Given the description of an element on the screen output the (x, y) to click on. 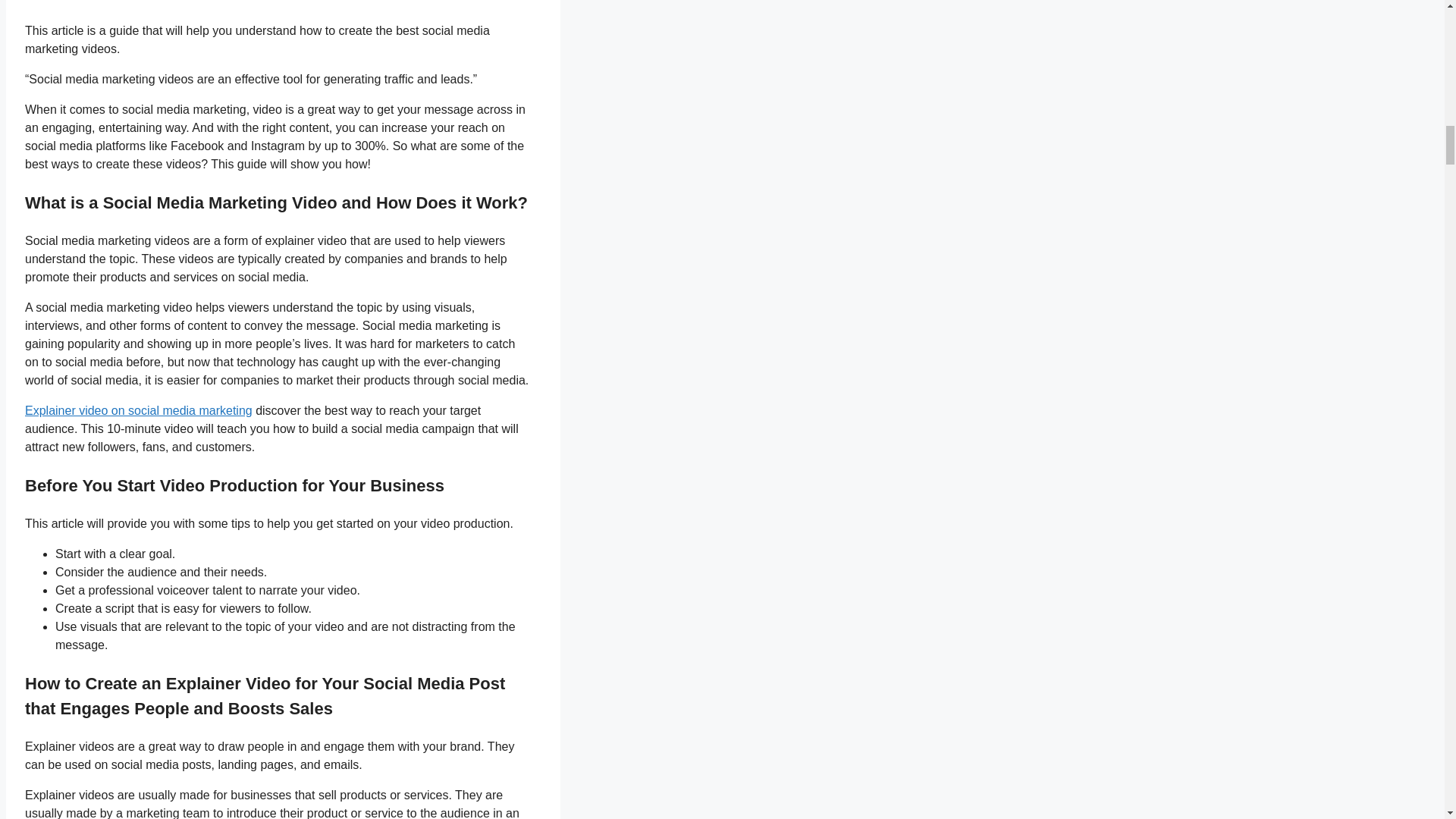
Explainer video on social media marketing (137, 410)
